Given the description of an element on the screen output the (x, y) to click on. 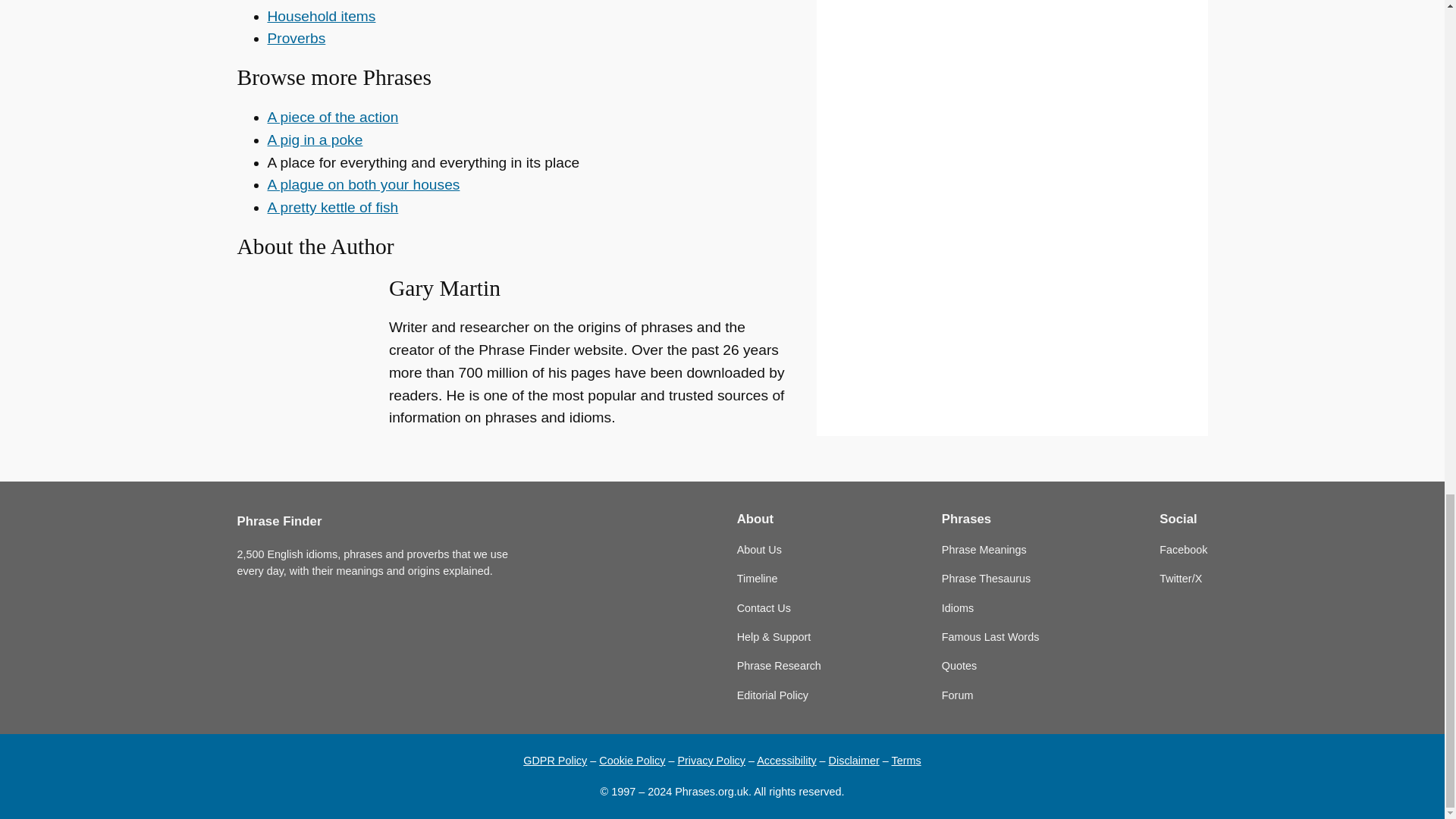
A piece of the action (331, 116)
A pretty kettle of fish (331, 207)
Household items (320, 16)
A plague on both your houses (363, 184)
Household items (320, 16)
Proverbs (295, 37)
A plague on both your houses (363, 184)
A pig in a poke (314, 139)
A pretty kettle of fish (331, 207)
Proverbs (295, 37)
A piece of the action (331, 116)
A pig in a poke (314, 139)
